Given the description of an element on the screen output the (x, y) to click on. 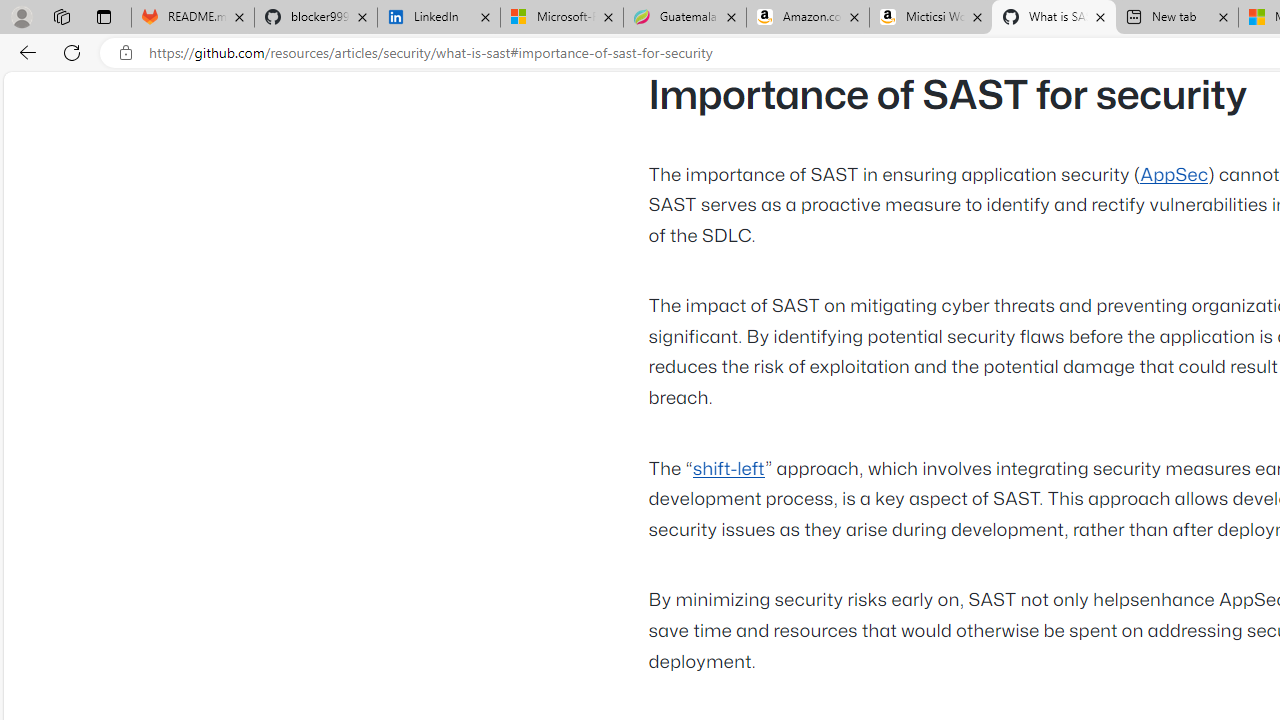
AppSec (1174, 175)
shift-left (728, 469)
LinkedIn (438, 17)
